Given the description of an element on the screen output the (x, y) to click on. 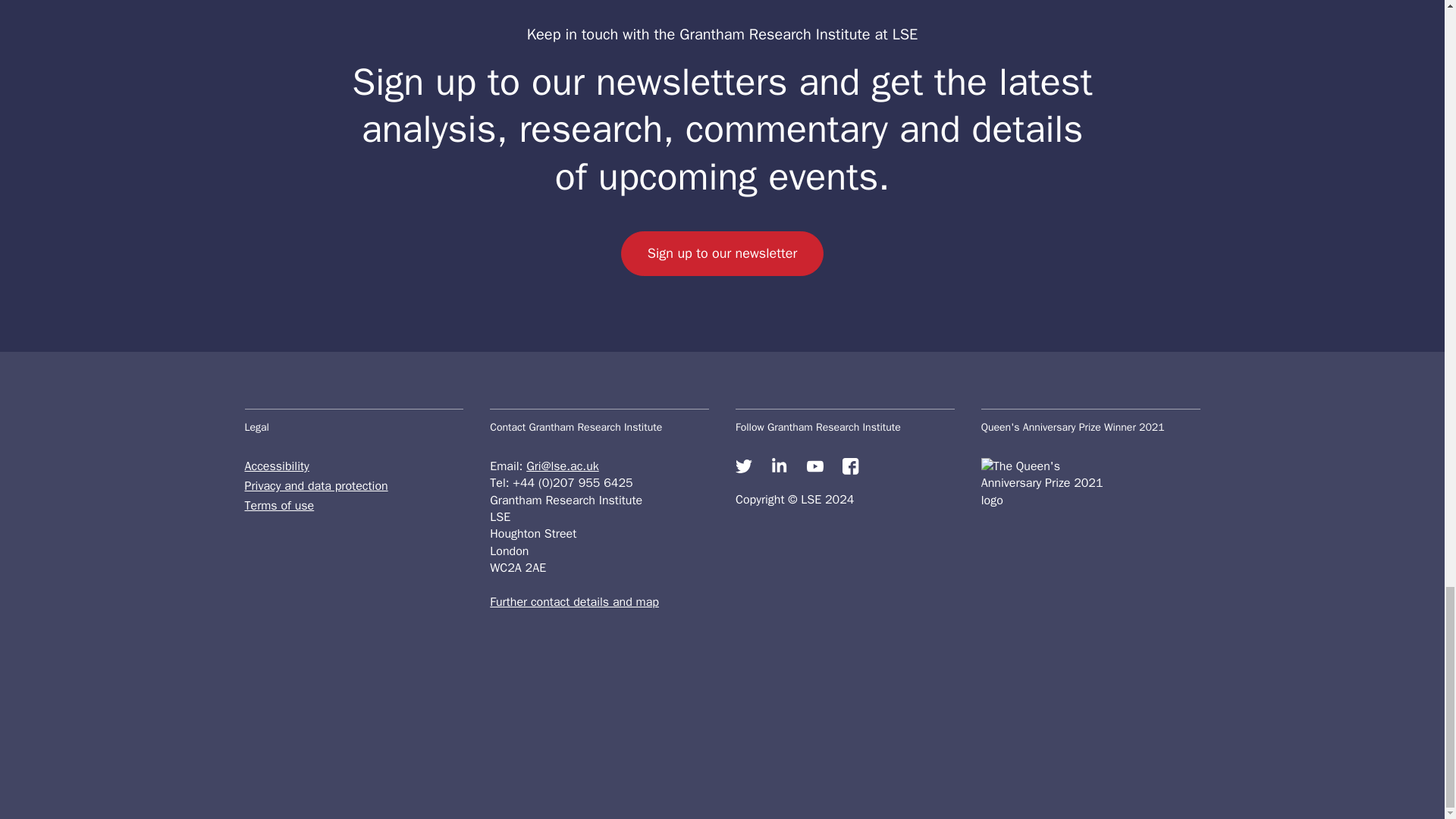
Terms of use (353, 505)
Accessibility (353, 466)
Privacy and data protection (353, 485)
